Given the description of an element on the screen output the (x, y) to click on. 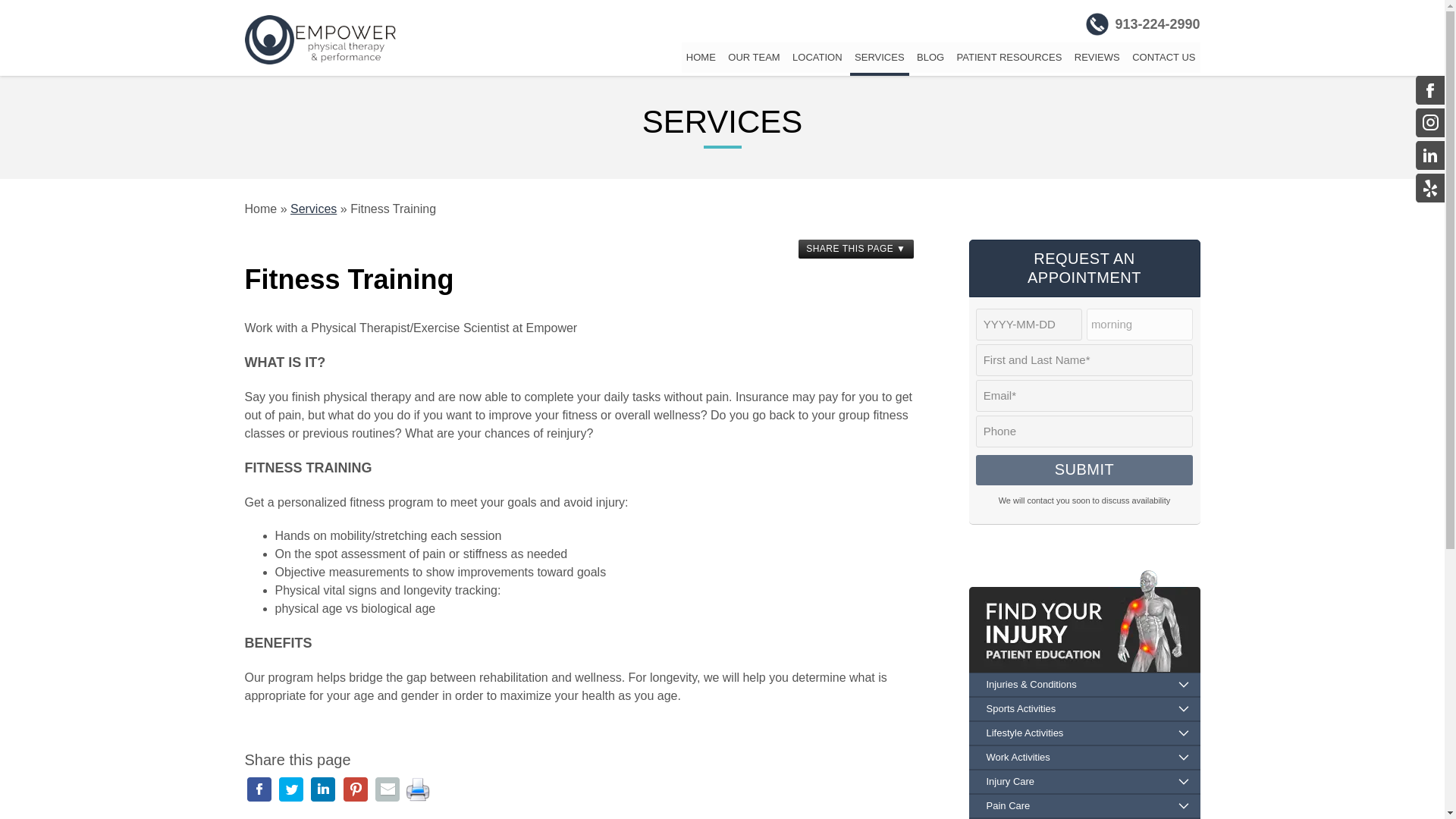
Sports Activities (1084, 708)
CONTACT US (1162, 57)
HOME (700, 57)
REVIEWS (1097, 57)
First and Last Name (1084, 359)
Appointment time (1139, 323)
OUR TEAM (753, 57)
913-224-2990 (1142, 24)
Email (1084, 395)
Work Activities (1084, 757)
LOCATION (817, 57)
SERVICES (879, 59)
Phone: must be 10 digits long (1084, 431)
Appointment date (1028, 323)
BLOG (930, 57)
